Given the description of an element on the screen output the (x, y) to click on. 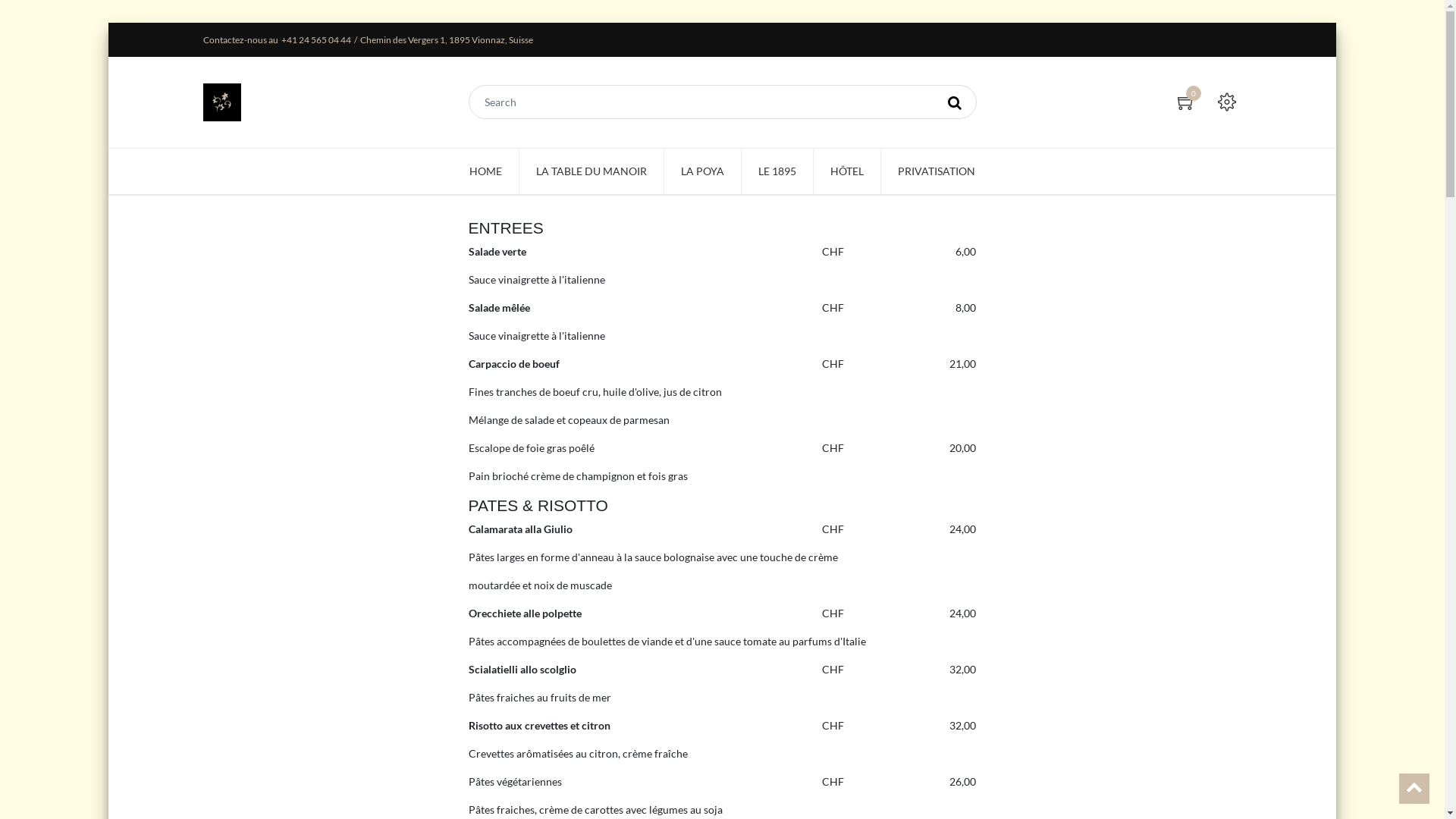
LA TABLE DU MANOIR Element type: text (591, 171)
Le Manoir Element type: hover (222, 100)
LA POYA Element type: text (702, 171)
PRIVATISATION Element type: text (936, 171)
HOME Element type: text (485, 171)
LE 1895 Element type: text (776, 171)
